Given the description of an element on the screen output the (x, y) to click on. 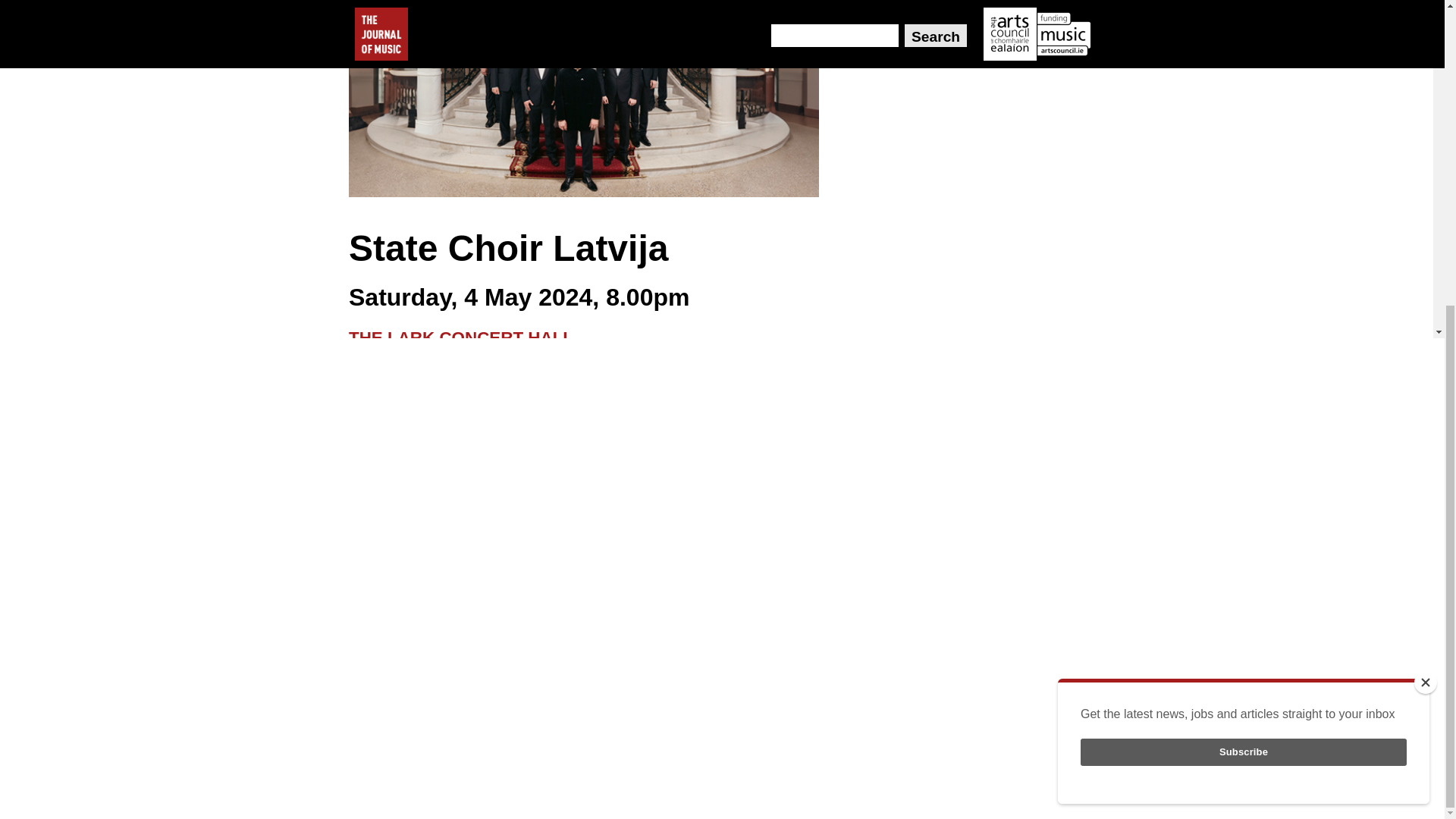
State Choir Latvija (583, 98)
